Given the description of an element on the screen output the (x, y) to click on. 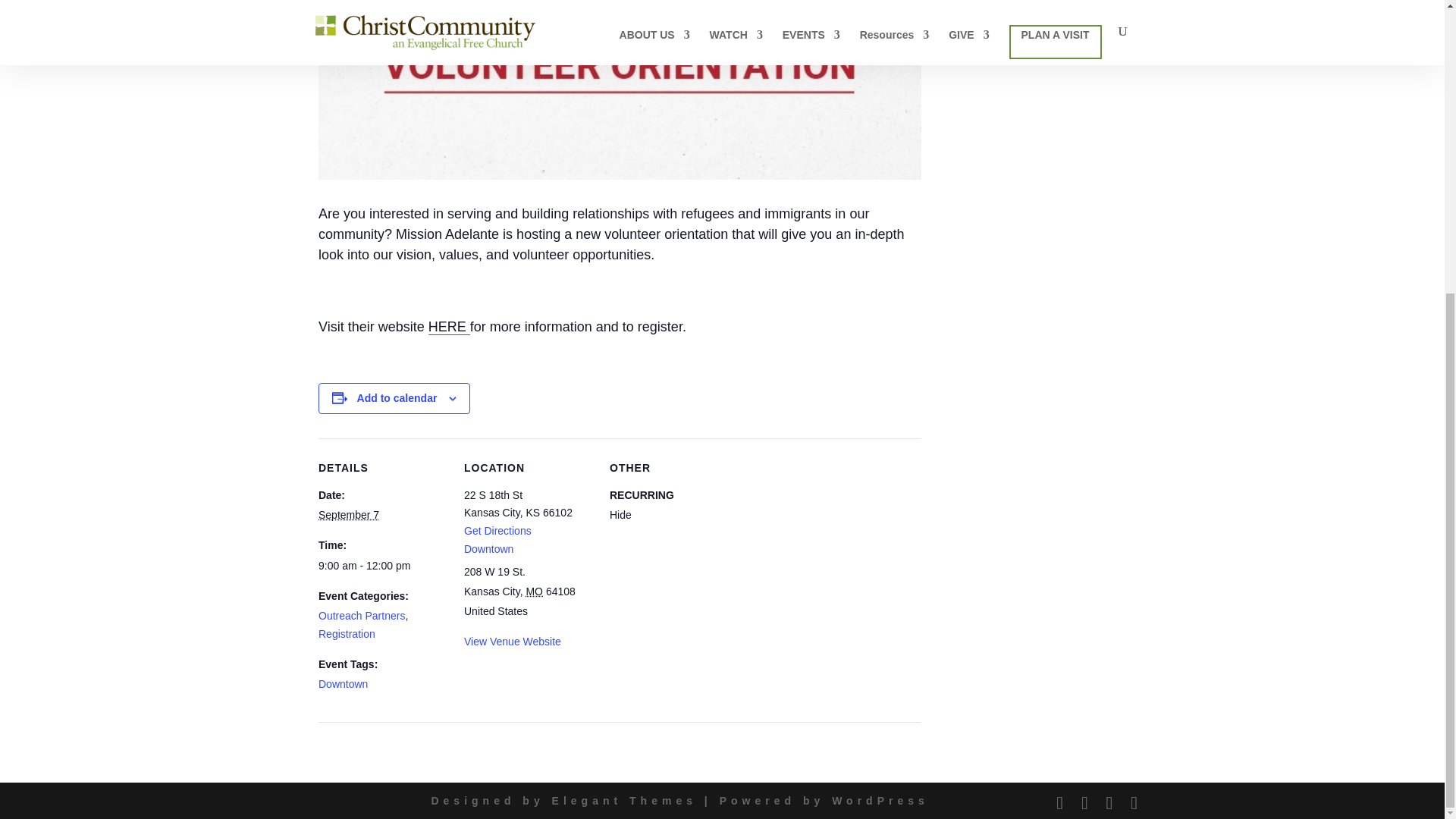
View Venue Website (512, 641)
Downtown (488, 548)
Outreach Partners (361, 615)
HERE (449, 326)
2024-09-07 (381, 566)
Missouri (534, 591)
Registration (346, 633)
Add to calendar (397, 398)
Premium WordPress Themes (624, 800)
Downtown (343, 684)
